Given the description of an element on the screen output the (x, y) to click on. 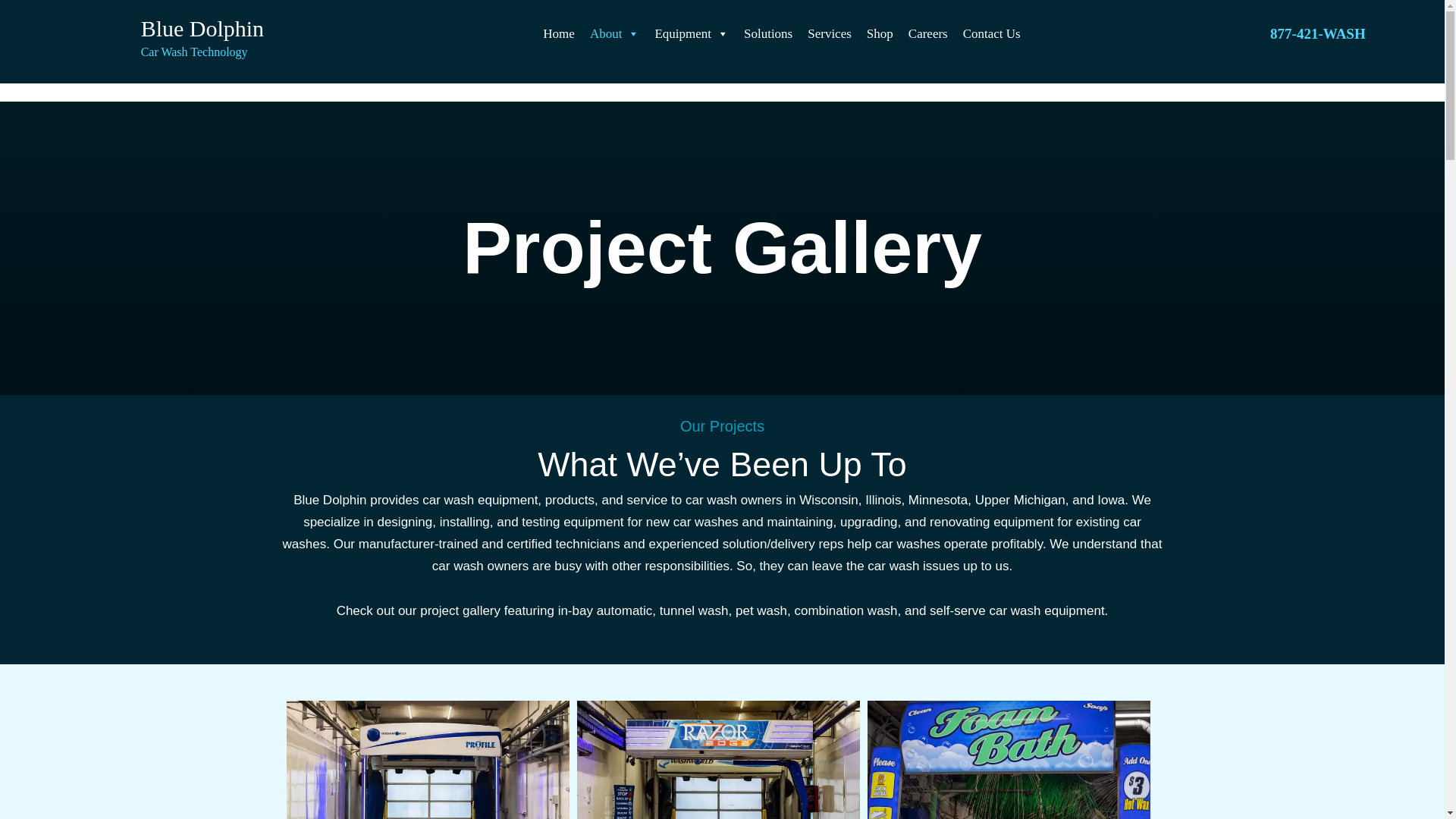
Careers (928, 33)
About (614, 33)
Equipment (691, 33)
Home (185, 46)
Shop (558, 33)
Services (880, 33)
Solutions (829, 33)
Contact Us (767, 33)
877-421-WASH (991, 33)
